Given the description of an element on the screen output the (x, y) to click on. 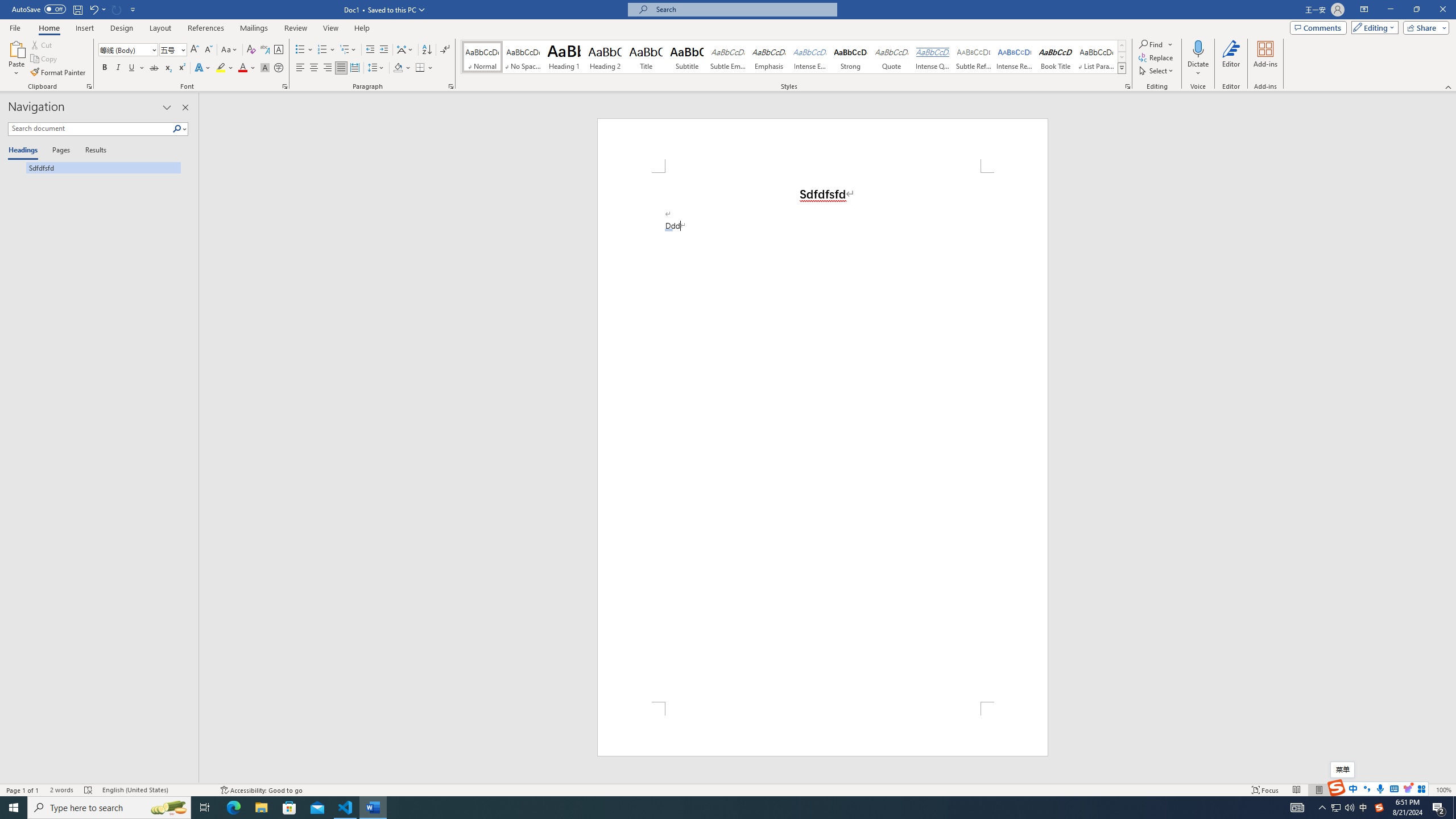
Can't Repeat (117, 9)
Quote (891, 56)
